Given the description of an element on the screen output the (x, y) to click on. 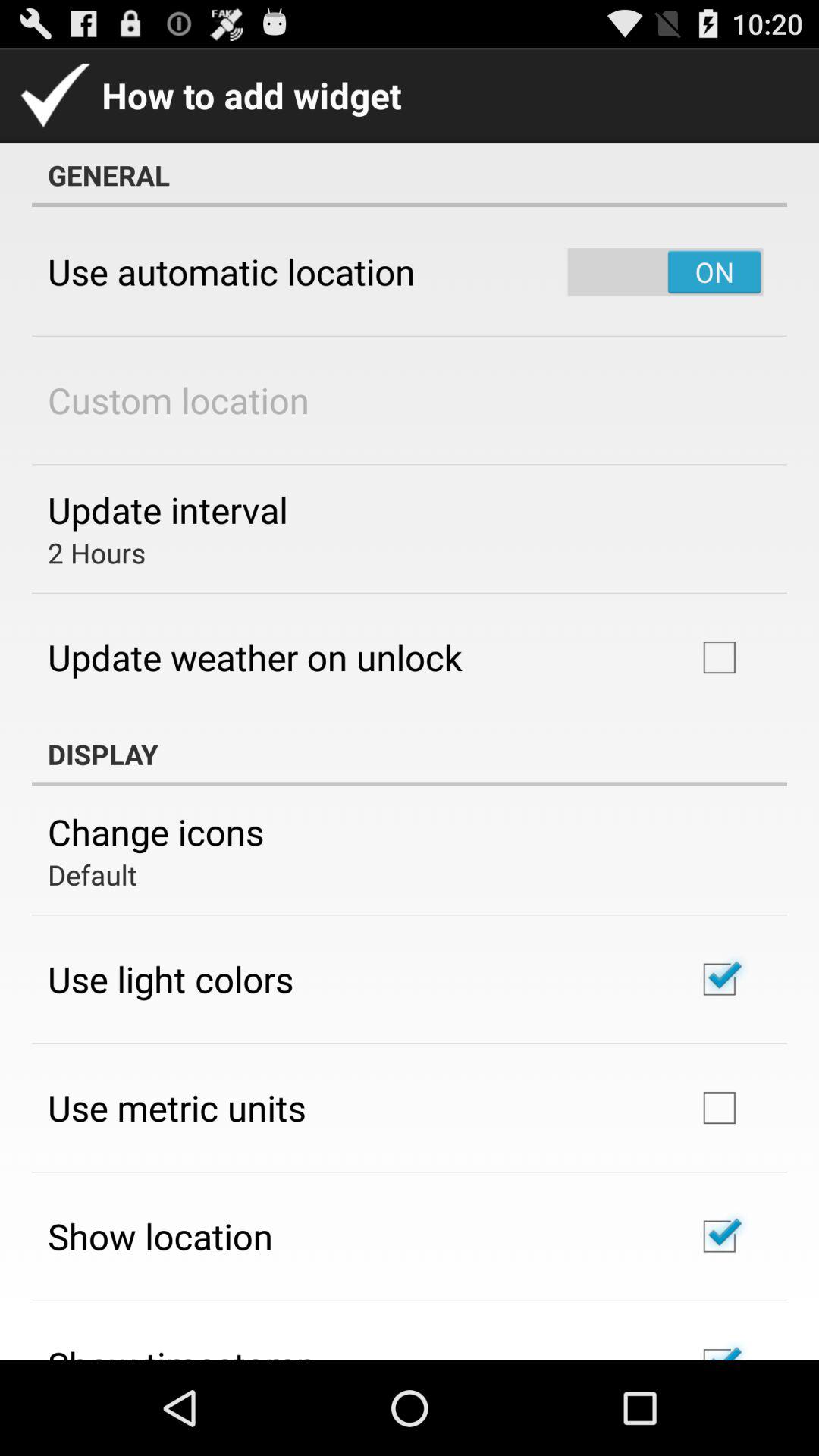
press app below general app (231, 271)
